Given the description of an element on the screen output the (x, y) to click on. 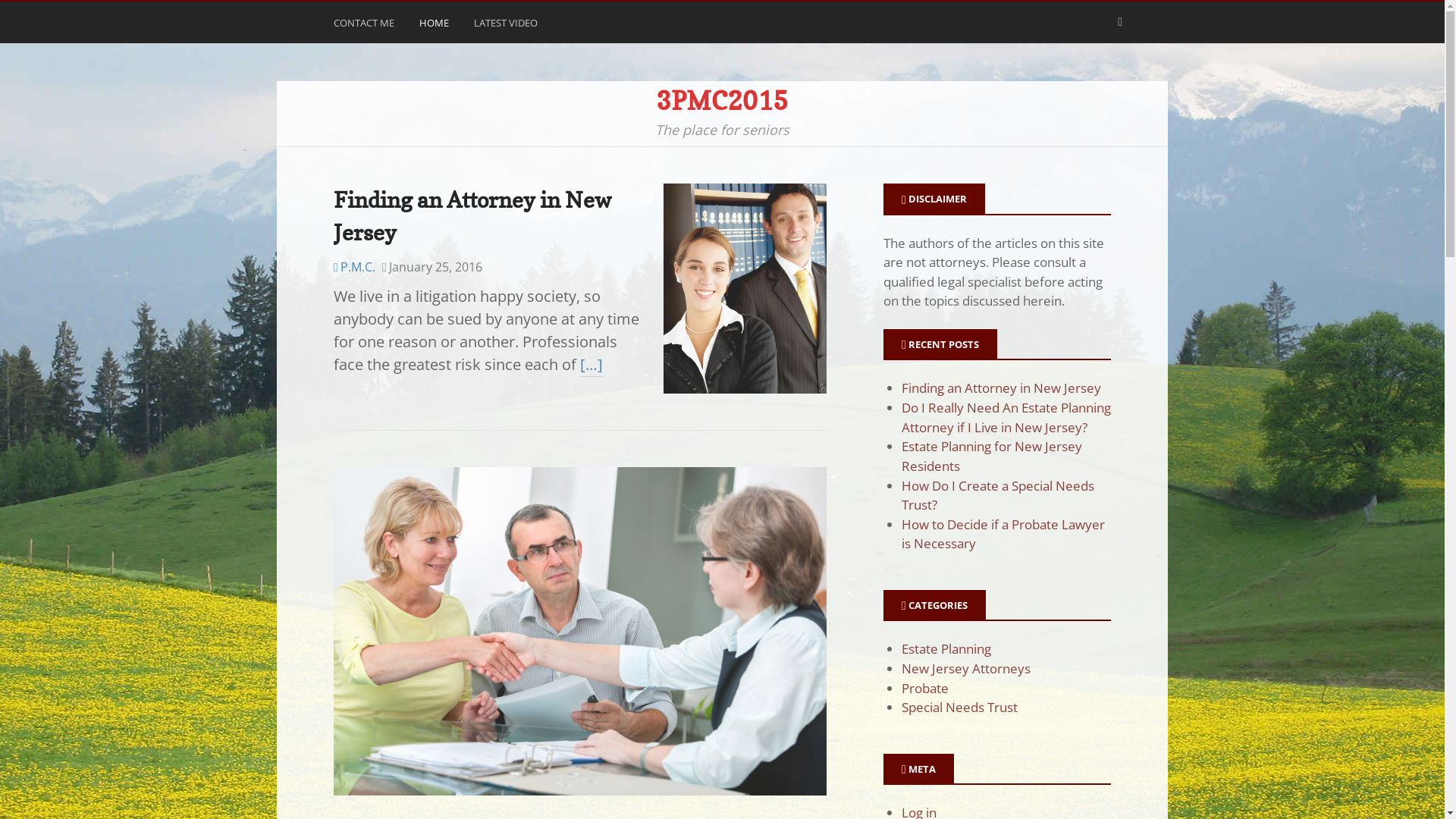
Probate Element type: text (924, 687)
3PMC2015 Element type: text (721, 100)
Estate Planning for New Jersey Residents Element type: text (991, 455)
Finding an Attorney in New Jersey Element type: text (472, 215)
New Jersey Attorneys Element type: text (965, 668)
LATEST VIDEO Element type: text (507, 26)
Special Needs Trust Element type: text (959, 706)
CONTACT ME Element type: text (365, 26)
HOME Element type: text (435, 26)
P.M.C. Element type: text (354, 266)
How to Decide if a Probate Lawyer is Necessary Element type: text (1002, 533)
Estate Planning Element type: text (946, 648)
Finding an Attorney in New Jersey Element type: text (1001, 387)
Search Element type: text (29, 16)
How Do I Create a Special Needs Trust? Element type: text (997, 495)
